Given the description of an element on the screen output the (x, y) to click on. 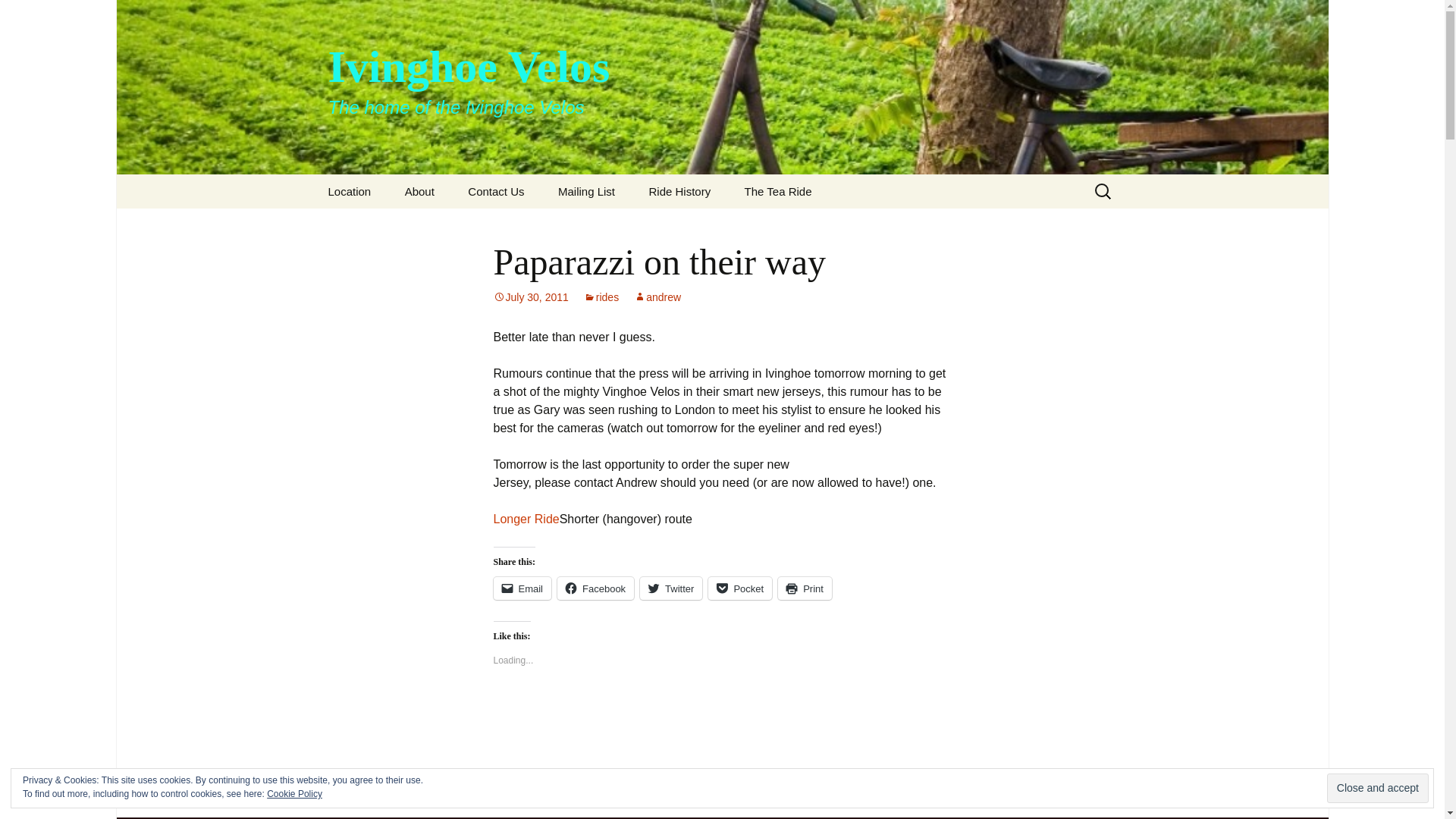
About (419, 191)
Pocket (739, 588)
Click to share on Pocket (739, 588)
andrew (657, 297)
Click to share on Twitter (670, 588)
Ride History (679, 191)
Location (349, 191)
Like or Reblog (721, 712)
Mailing List (586, 191)
Permalink to Paparazzi on their way (530, 297)
View all posts by andrew (657, 297)
Twitter (670, 588)
Contact Us (495, 191)
Facebook (595, 588)
Search (18, 15)
